Given the description of an element on the screen output the (x, y) to click on. 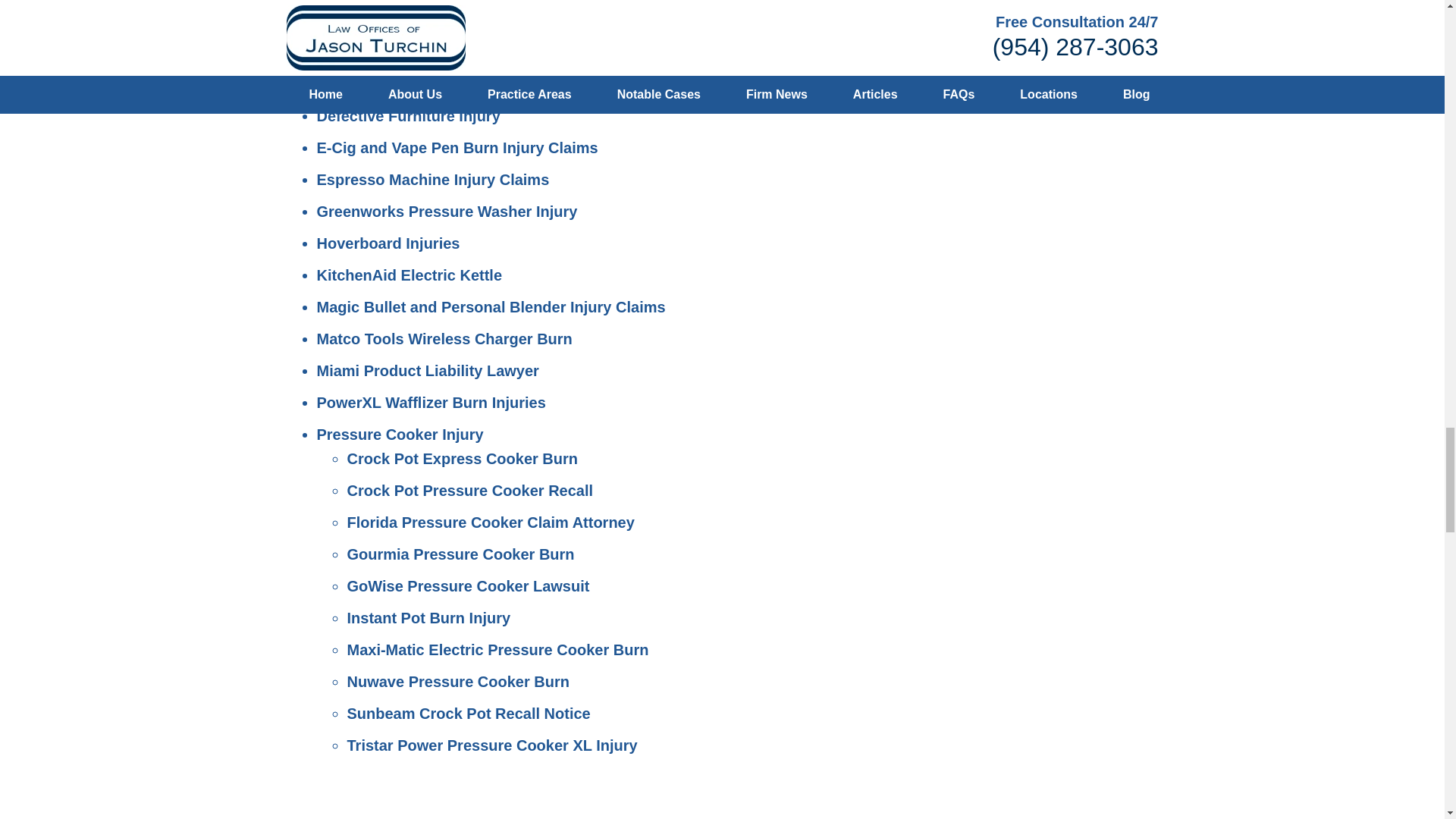
Defective Furniture Injury (408, 115)
Infrared Sauna Blanket Burn (449, 52)
Coffee Maker Explosion Burn Lawsuits (456, 84)
HigherDose Sauna Blanket Injuries (472, 20)
Heated Blanket and Sauna Blanket Injuries (470, 2)
Espresso Machine Injury Claims (433, 179)
E-Cig and Vape Pen Burn Injury Claims (457, 147)
